Given the description of an element on the screen output the (x, y) to click on. 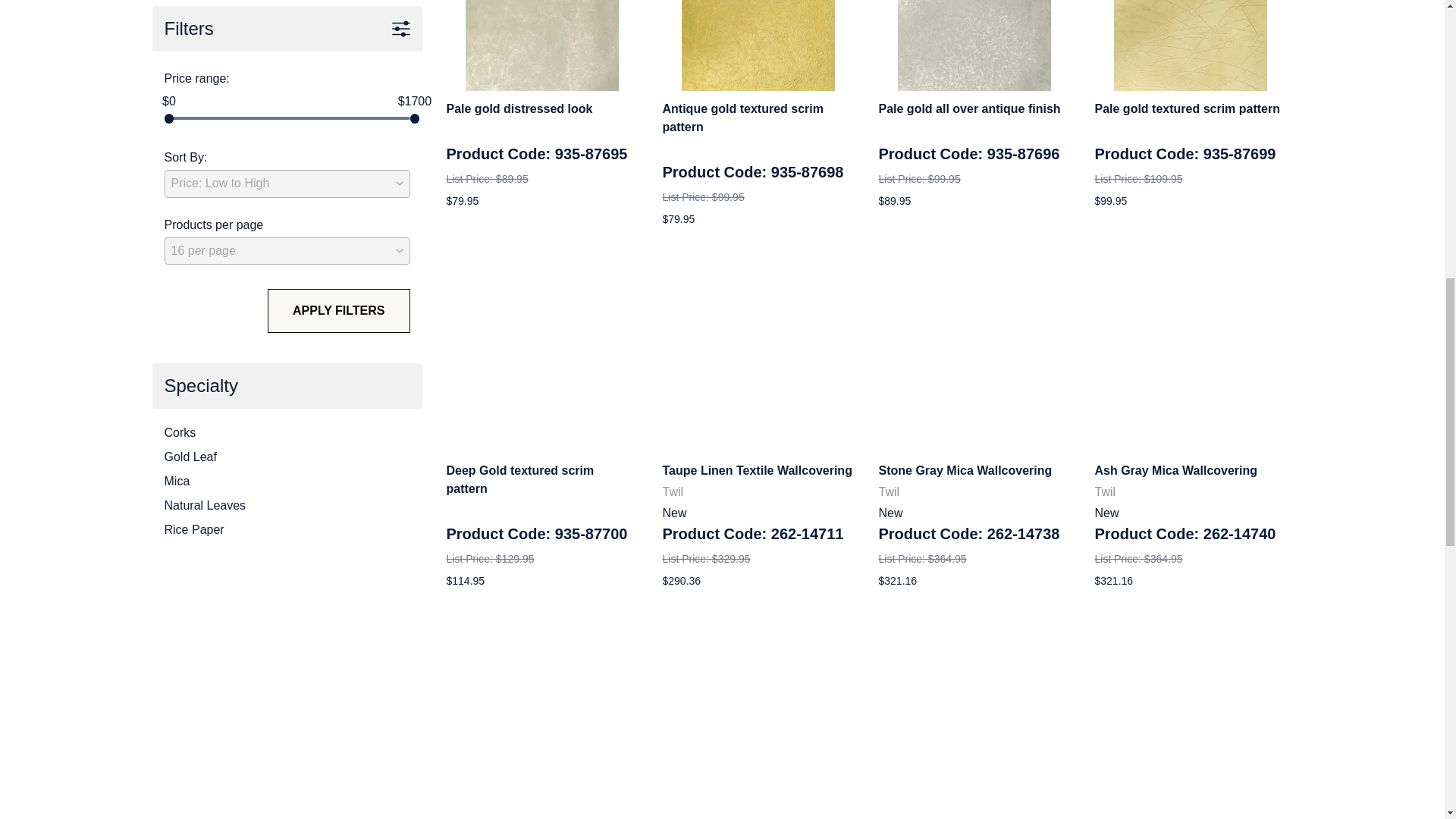
Pale gold all over antique finish (974, 45)
Gunmetal Gray Mica Wallcovering (758, 718)
Ash Gray Mica Wallcovering (1190, 356)
Antique gold textured scrim pattern (757, 45)
Pale gold textured scrim pattern (1189, 45)
White Rock Mica (1190, 718)
Stone Gray Mica Wallcovering (973, 356)
Deep Gold textured scrim pattern (541, 356)
Deep Sand Mica Wallcovering (973, 718)
Pale gold distressed look (541, 45)
Taupe Linen Textile Wallcovering (758, 356)
Dark Stone Gray Mica Wallcovering (541, 718)
